Given the description of an element on the screen output the (x, y) to click on. 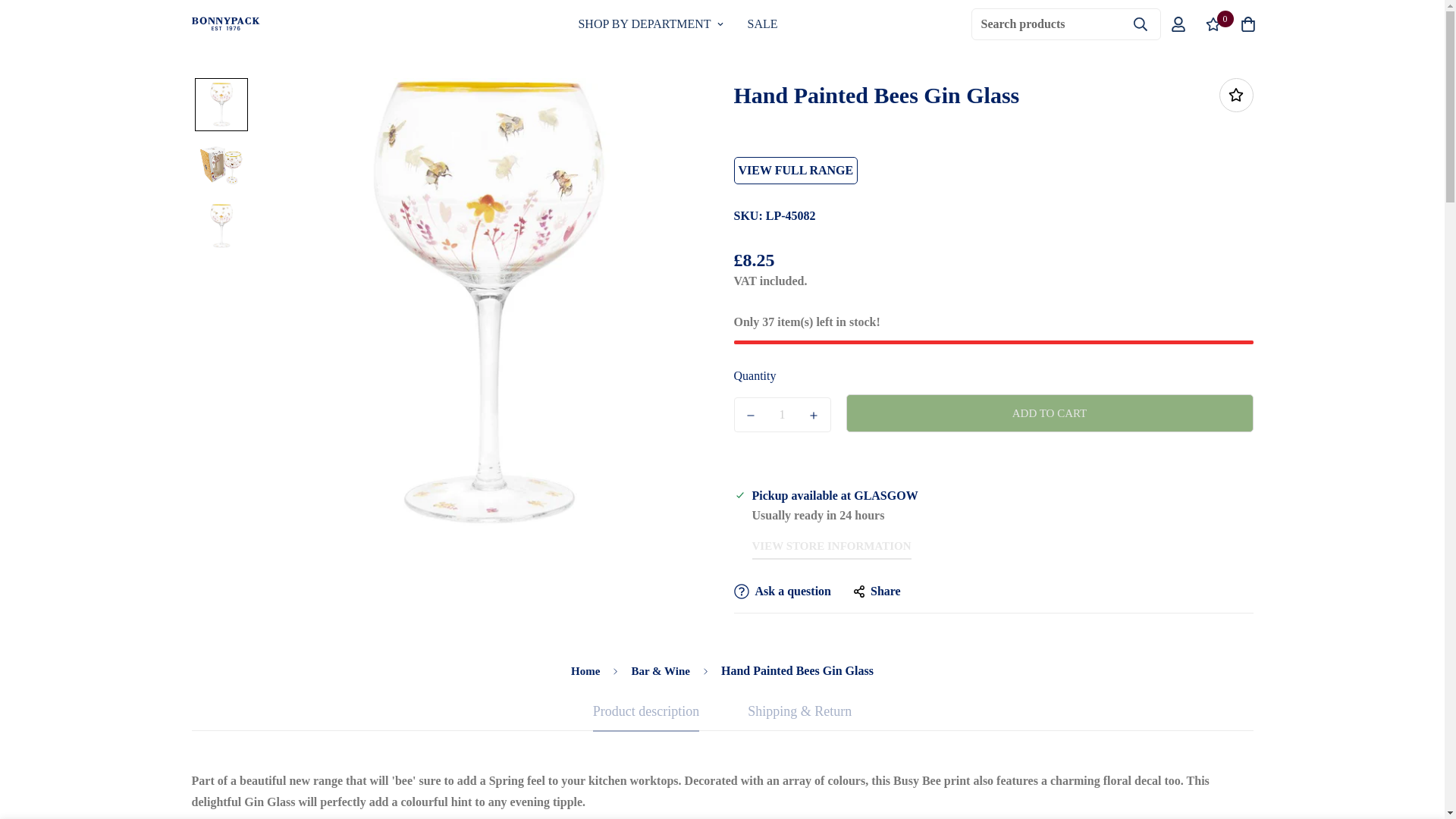
SHOP BY DEPARTMENT (650, 23)
Back to the home page (585, 671)
1 (782, 414)
Bonnypack (677, 23)
